Given the description of an element on the screen output the (x, y) to click on. 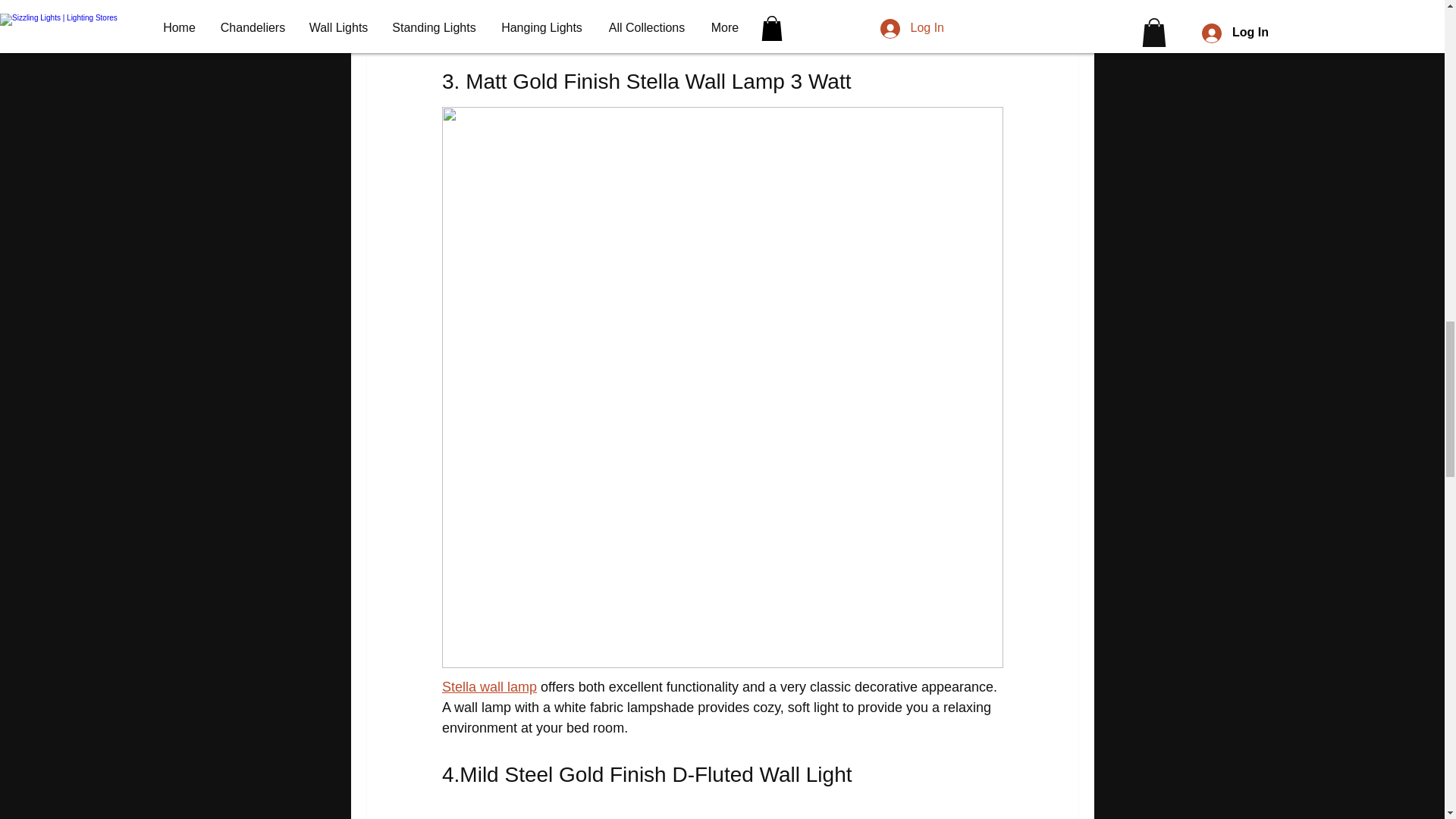
Stella wall lamp (488, 687)
Modern Stylish LED Wall Lamp (534, 14)
